Given the description of an element on the screen output the (x, y) to click on. 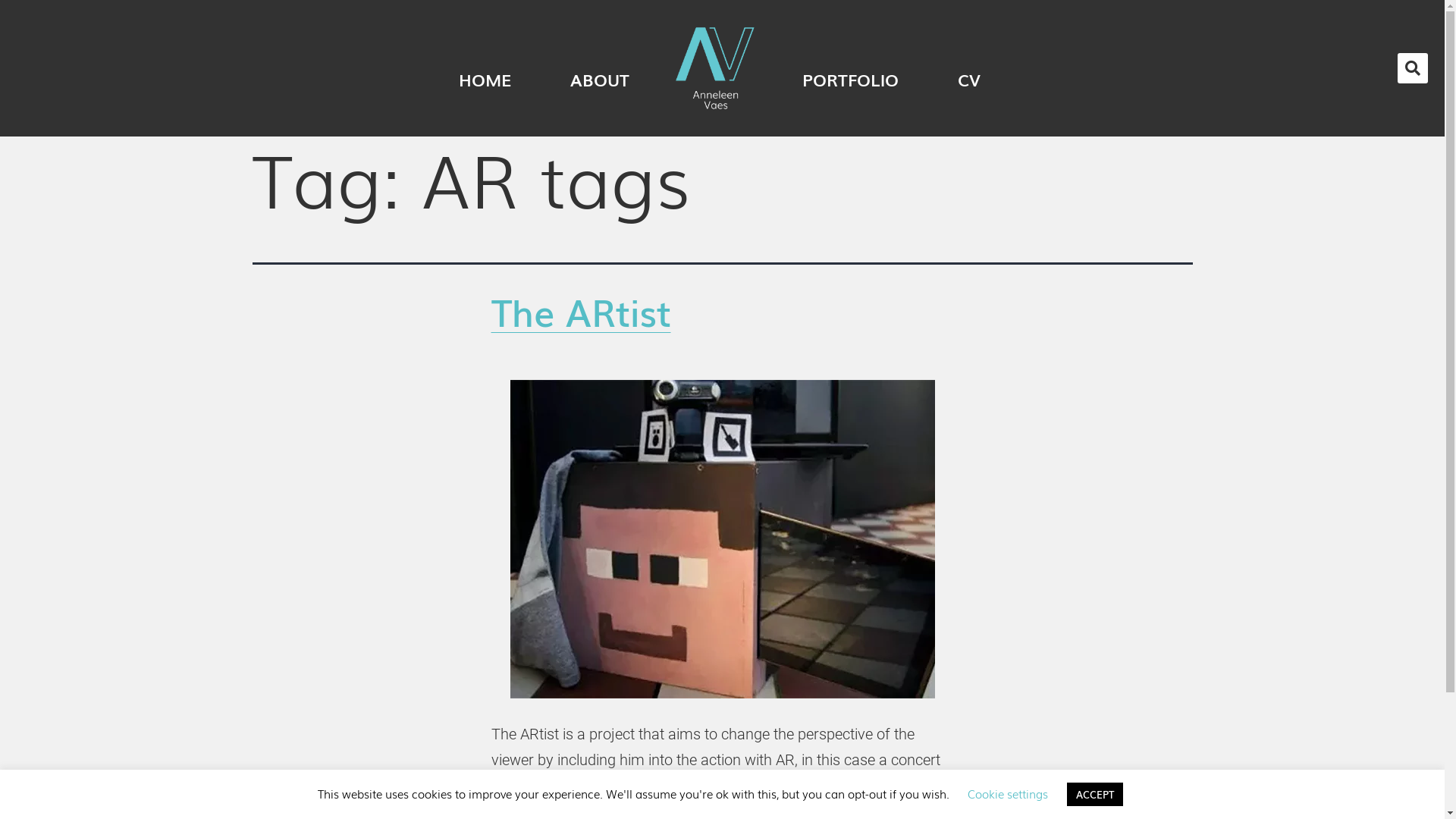
HOME Element type: text (484, 68)
PORTFOLIO Element type: text (850, 68)
The ARtist Element type: text (581, 310)
Cookie settings Element type: text (1007, 792)
ABOUT Element type: text (599, 68)
ACCEPT Element type: text (1094, 794)
HOME Element type: text (715, 68)
CV Element type: text (969, 68)
